Given the description of an element on the screen output the (x, y) to click on. 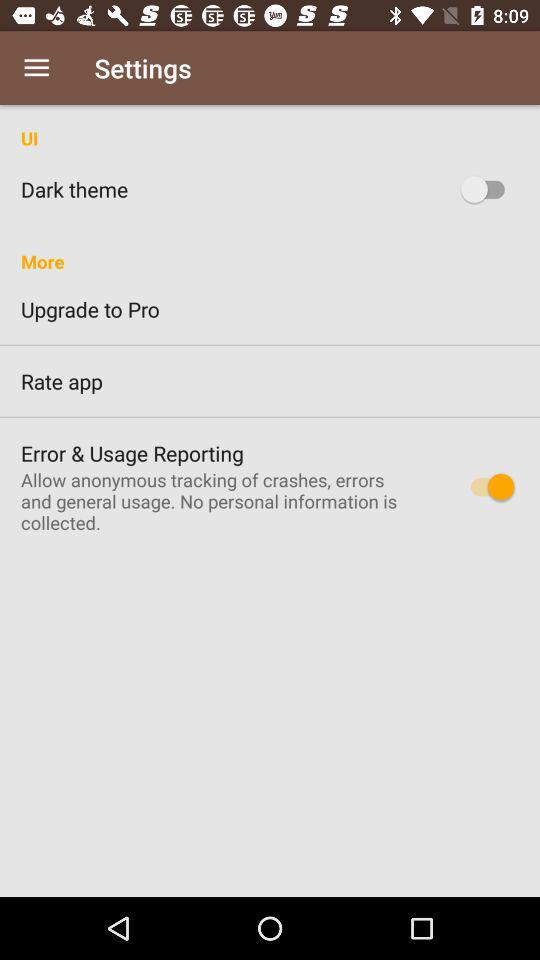
tap the icon next to the settings (36, 68)
